Given the description of an element on the screen output the (x, y) to click on. 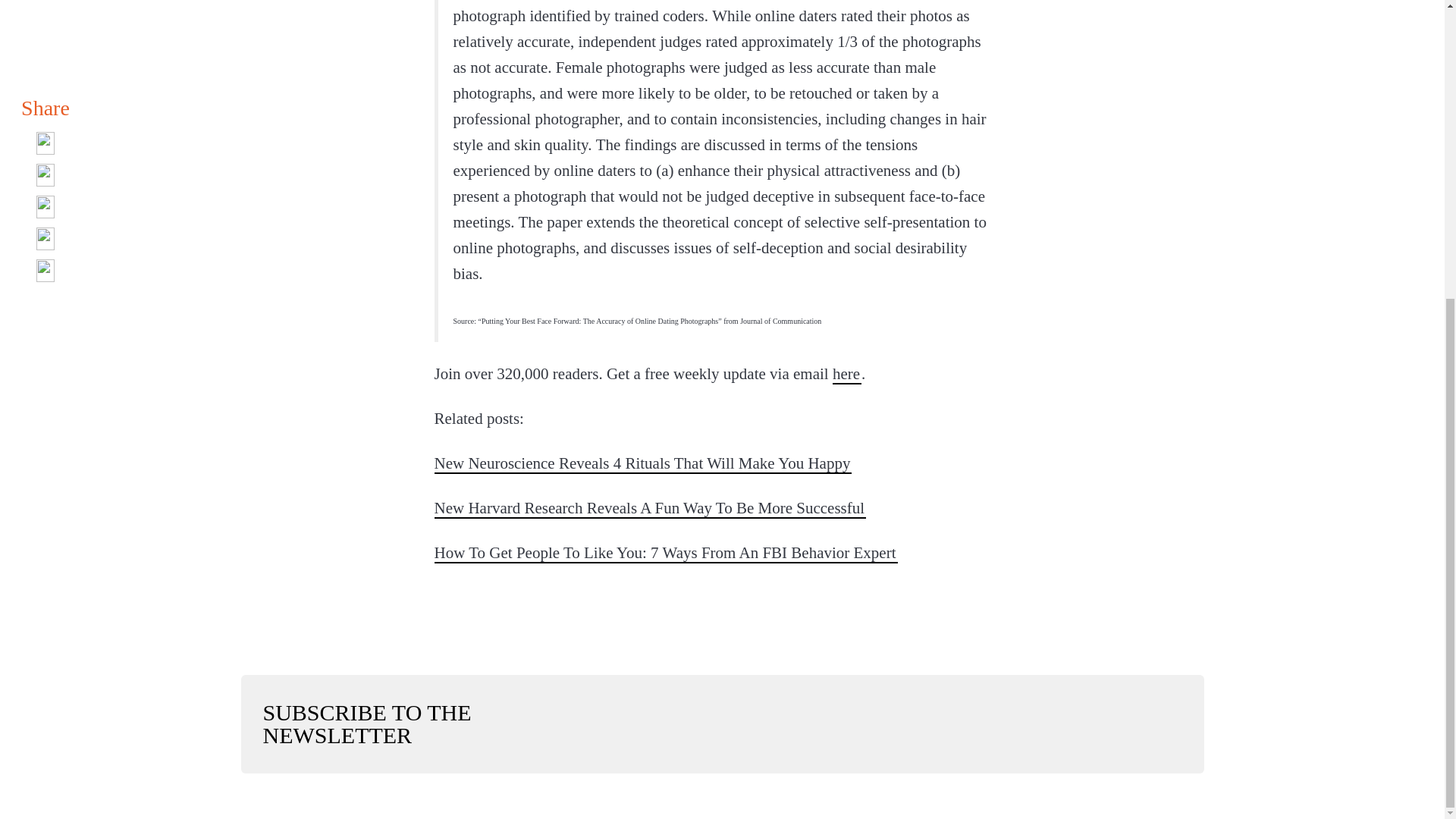
here (846, 373)
New Harvard Research Reveals A Fun Way To Be More Successful (649, 507)
New Neuroscience Reveals 4 Rituals That Will Make You Happy (642, 463)
